Given the description of an element on the screen output the (x, y) to click on. 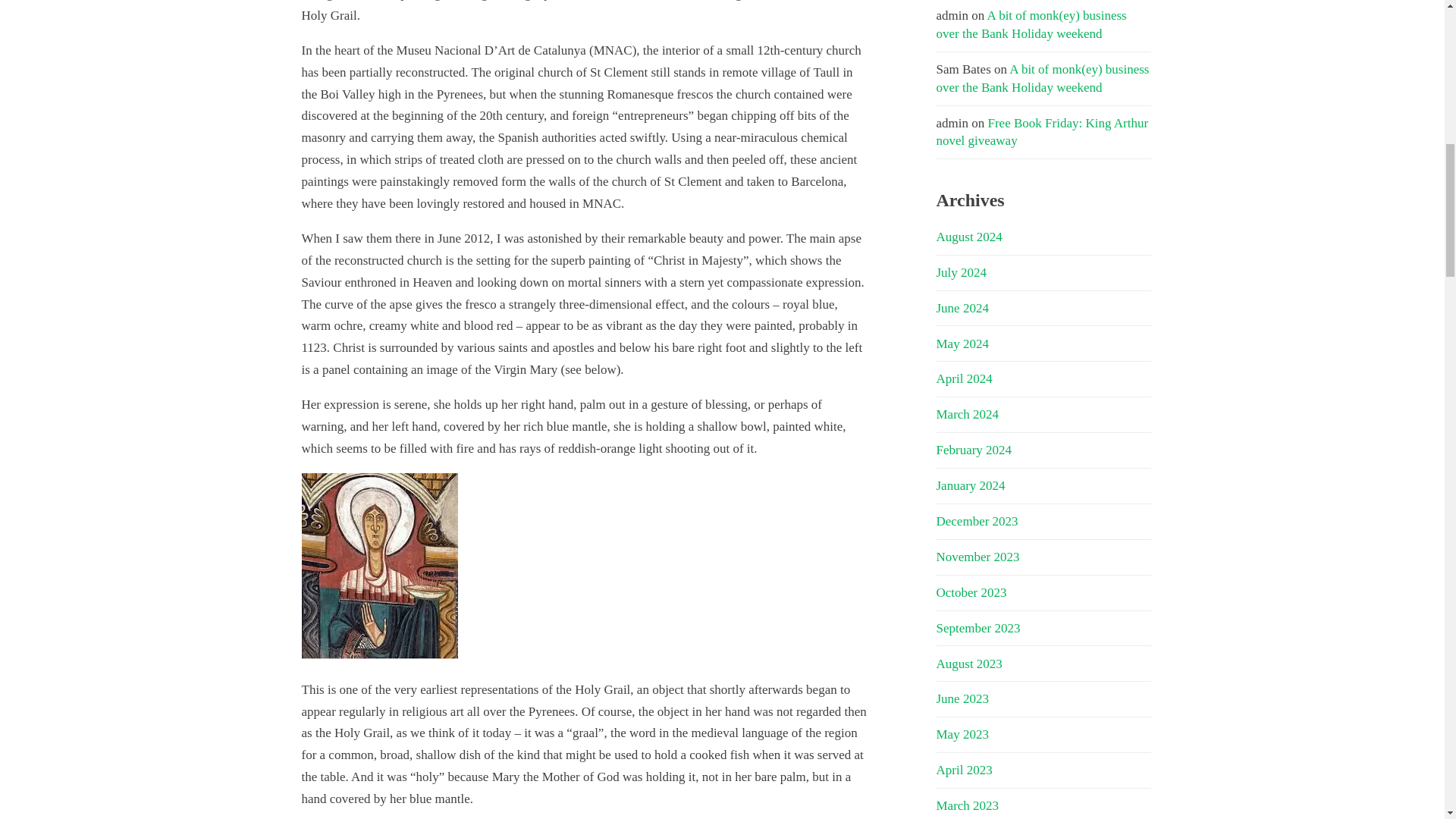
August 2024 (968, 237)
Free Book Friday: King Arthur novel giveaway (1042, 132)
July 2024 (961, 272)
April 2024 (963, 378)
March 2024 (967, 414)
June 2024 (962, 308)
January 2024 (970, 485)
May 2024 (962, 343)
February 2024 (973, 450)
